Given the description of an element on the screen output the (x, y) to click on. 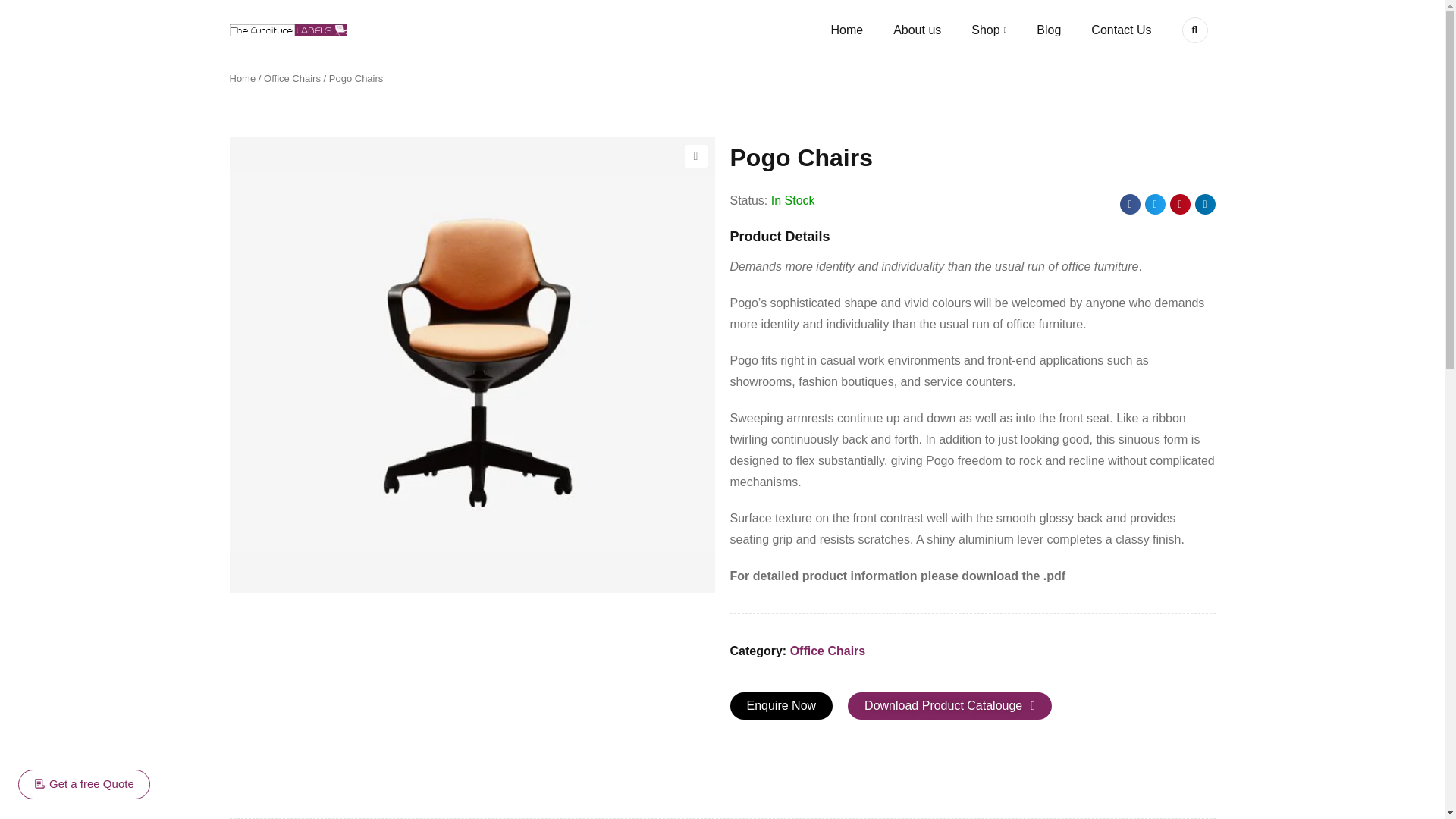
About us (916, 30)
Contact Us (1120, 30)
Home (846, 30)
Blog (1048, 30)
MyDecor (287, 30)
Shop (988, 30)
